Given the description of an element on the screen output the (x, y) to click on. 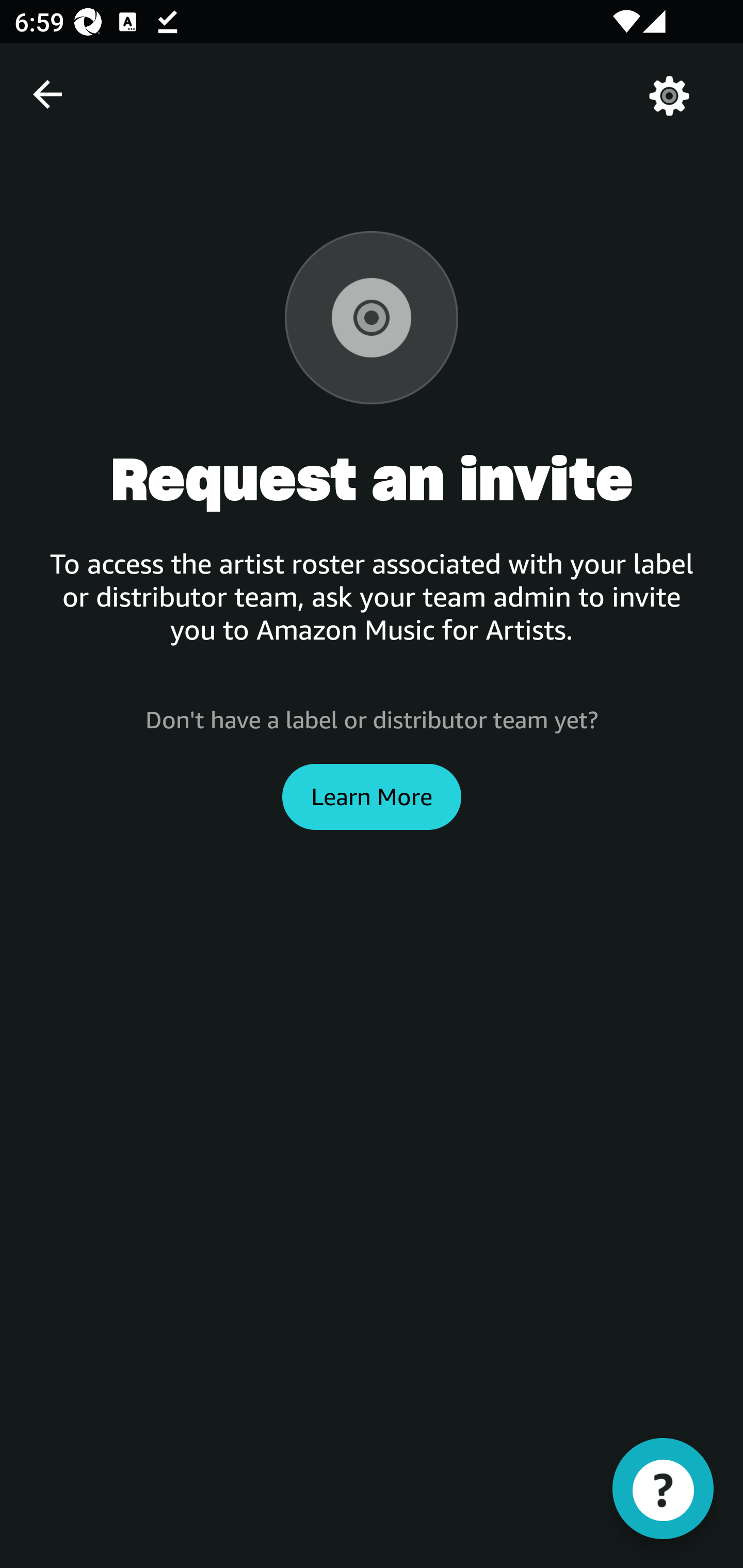
ArtistSelect, back (47, 93)
Learn more button Learn More (371, 796)
